Given the description of an element on the screen output the (x, y) to click on. 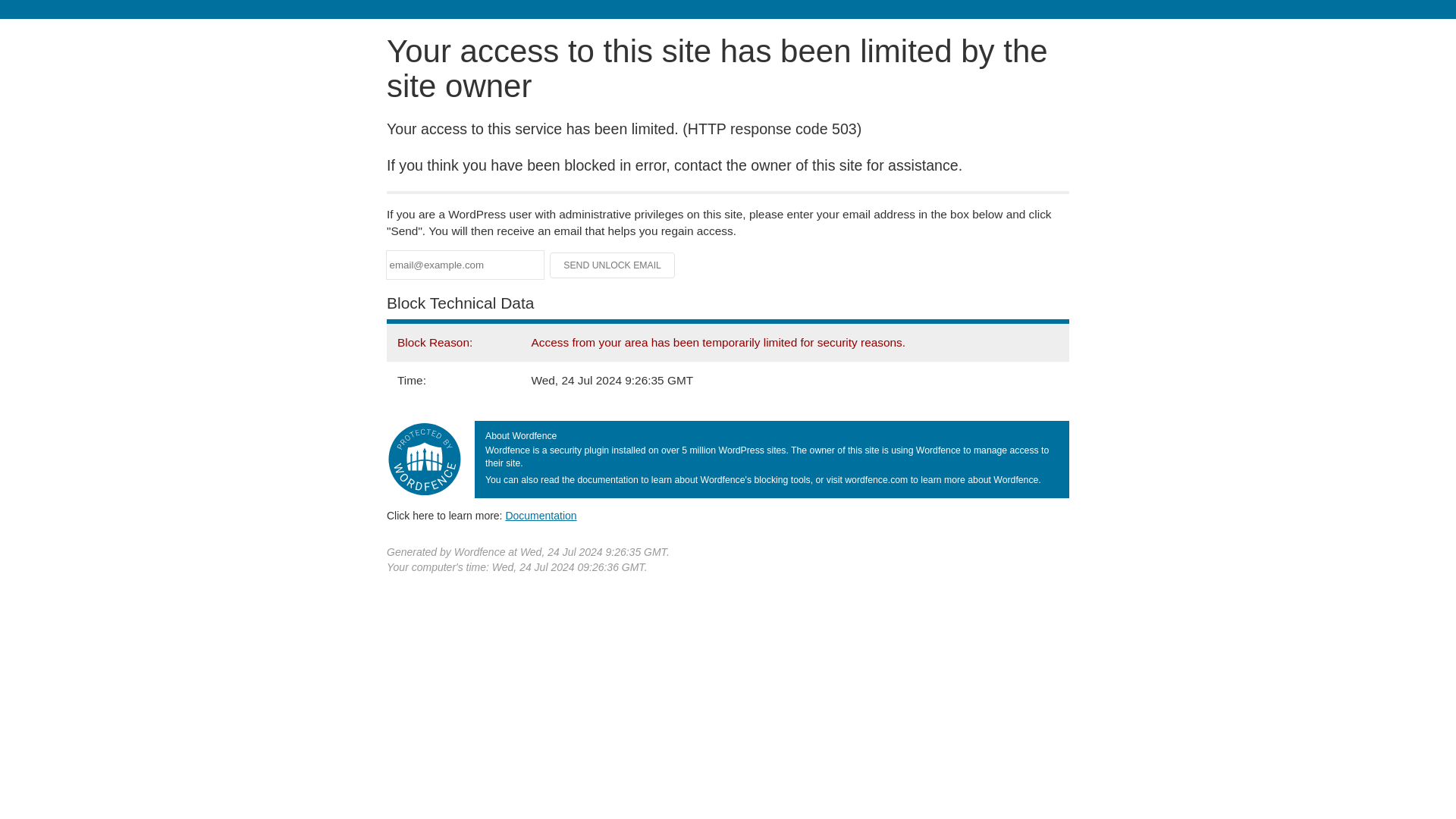
Documentation (540, 515)
Send Unlock Email (612, 265)
Send Unlock Email (612, 265)
